Given the description of an element on the screen output the (x, y) to click on. 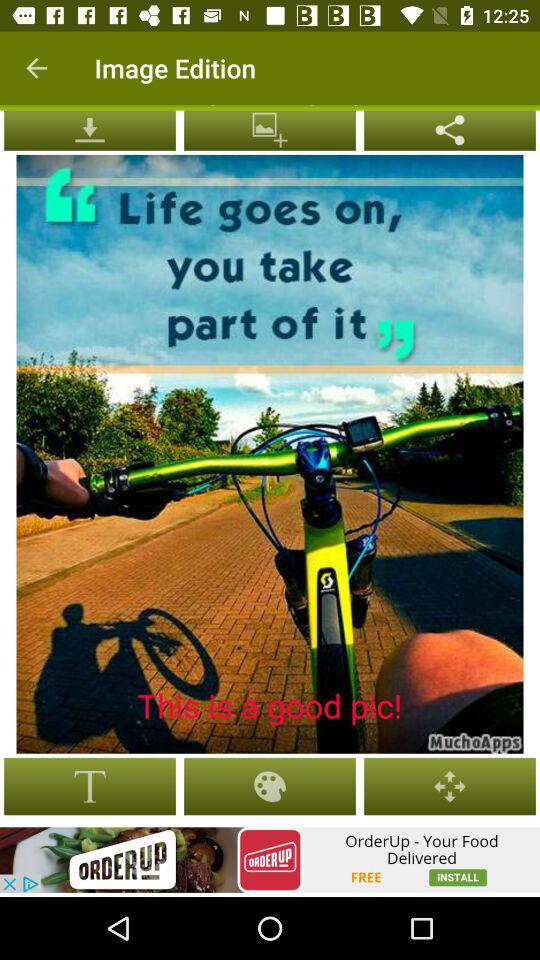
advertisement (270, 859)
